Given the description of an element on the screen output the (x, y) to click on. 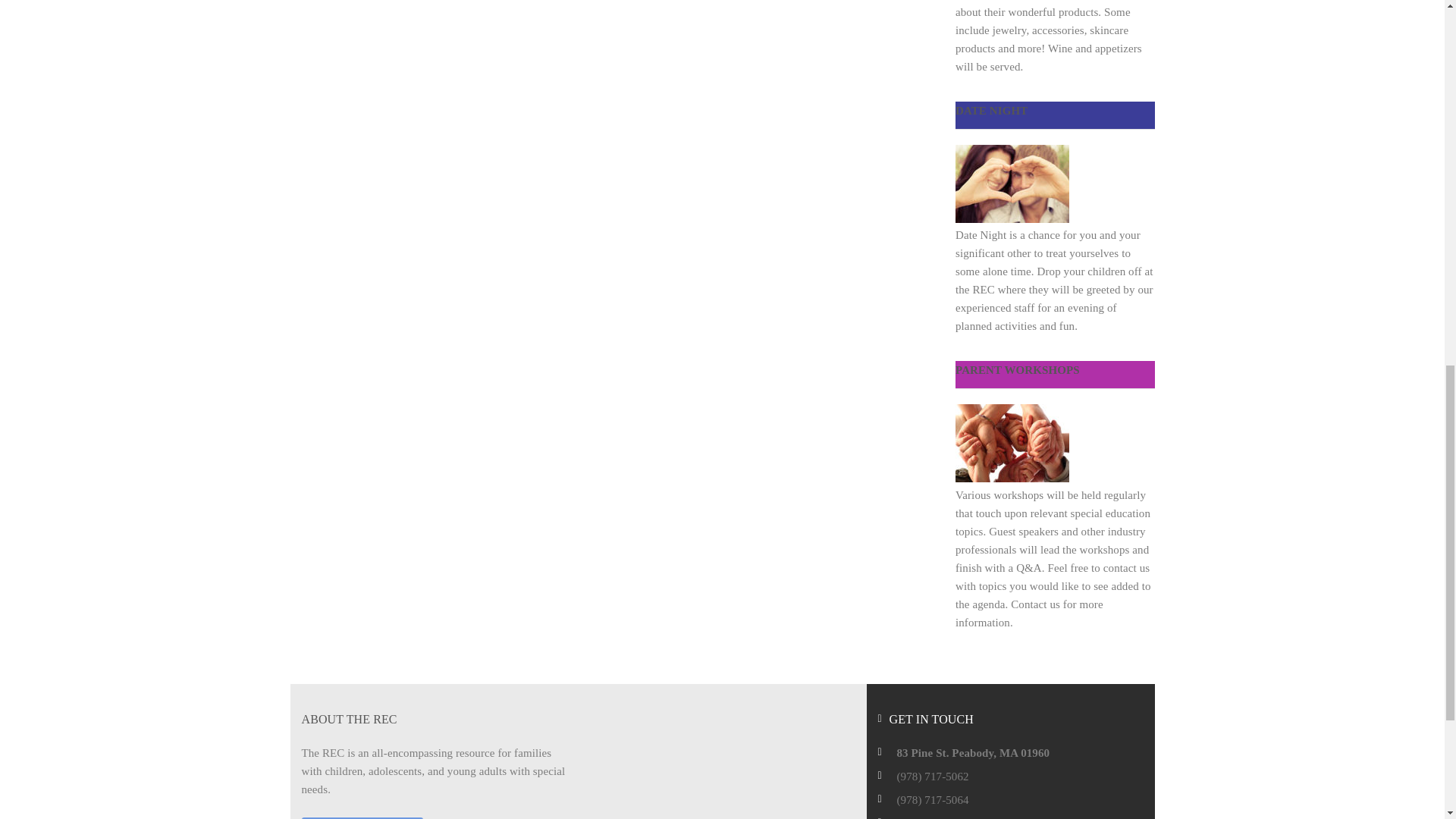
83 Pine St. Peabody, MA 01960 (972, 752)
GET BROCHURE (362, 818)
